Given the description of an element on the screen output the (x, y) to click on. 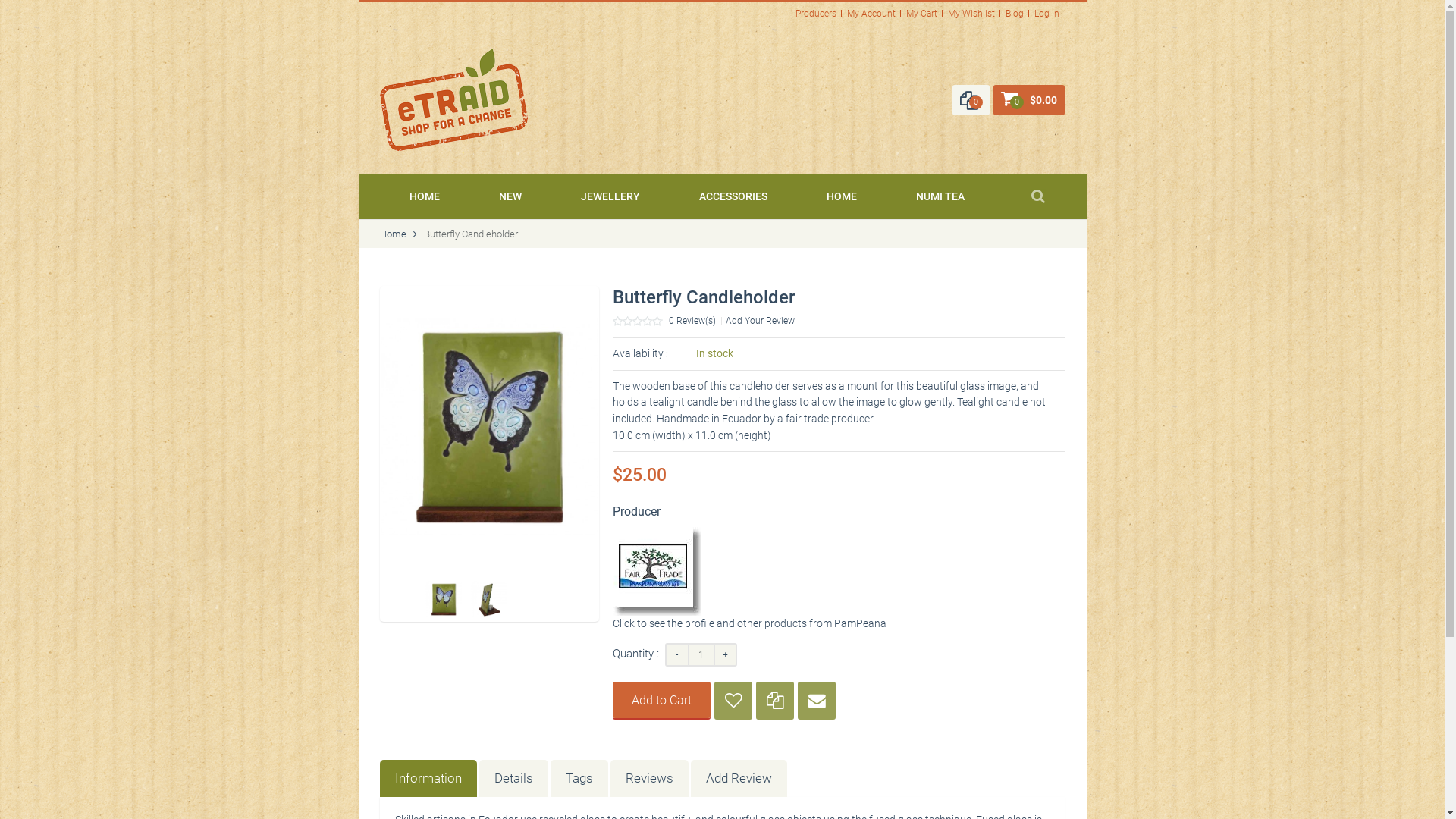
PamPeana Element type: hover (656, 534)
Add to Cart Element type: text (661, 699)
Add Review Element type: text (738, 778)
Add Your Review Element type: text (759, 320)
Add to Compare Element type: hover (774, 700)
Details Element type: text (513, 778)
- Element type: text (676, 652)
Information Element type: text (427, 778)
Reviews Element type: text (649, 778)
Search Element type: hover (1038, 196)
Producers Element type: text (815, 13)
+ Element type: text (725, 652)
NEW Element type: text (510, 196)
Blog Element type: text (1014, 13)
HOME Element type: text (424, 196)
Click to see the profile and other products from PamPeana Element type: text (749, 623)
My Wishlist Element type: text (971, 13)
Email to a Friend Element type: hover (816, 700)
HOME Element type: text (841, 196)
Home Element type: text (392, 233)
Tags Element type: text (579, 778)
My Account Element type: text (870, 13)
Qty : Element type: hover (701, 655)
My Cart Element type: text (921, 13)
NUMI TEA Element type: text (940, 196)
Butterfly Candleholder Element type: hover (489, 426)
0 Review(s) Element type: text (691, 320)
Add to Wishlist Element type: hover (733, 700)
Log In Element type: text (1046, 13)
ACCESSORIES Element type: text (733, 196)
JEWELLERY Element type: text (610, 196)
eTRAID Element type: hover (453, 55)
